Given the description of an element on the screen output the (x, y) to click on. 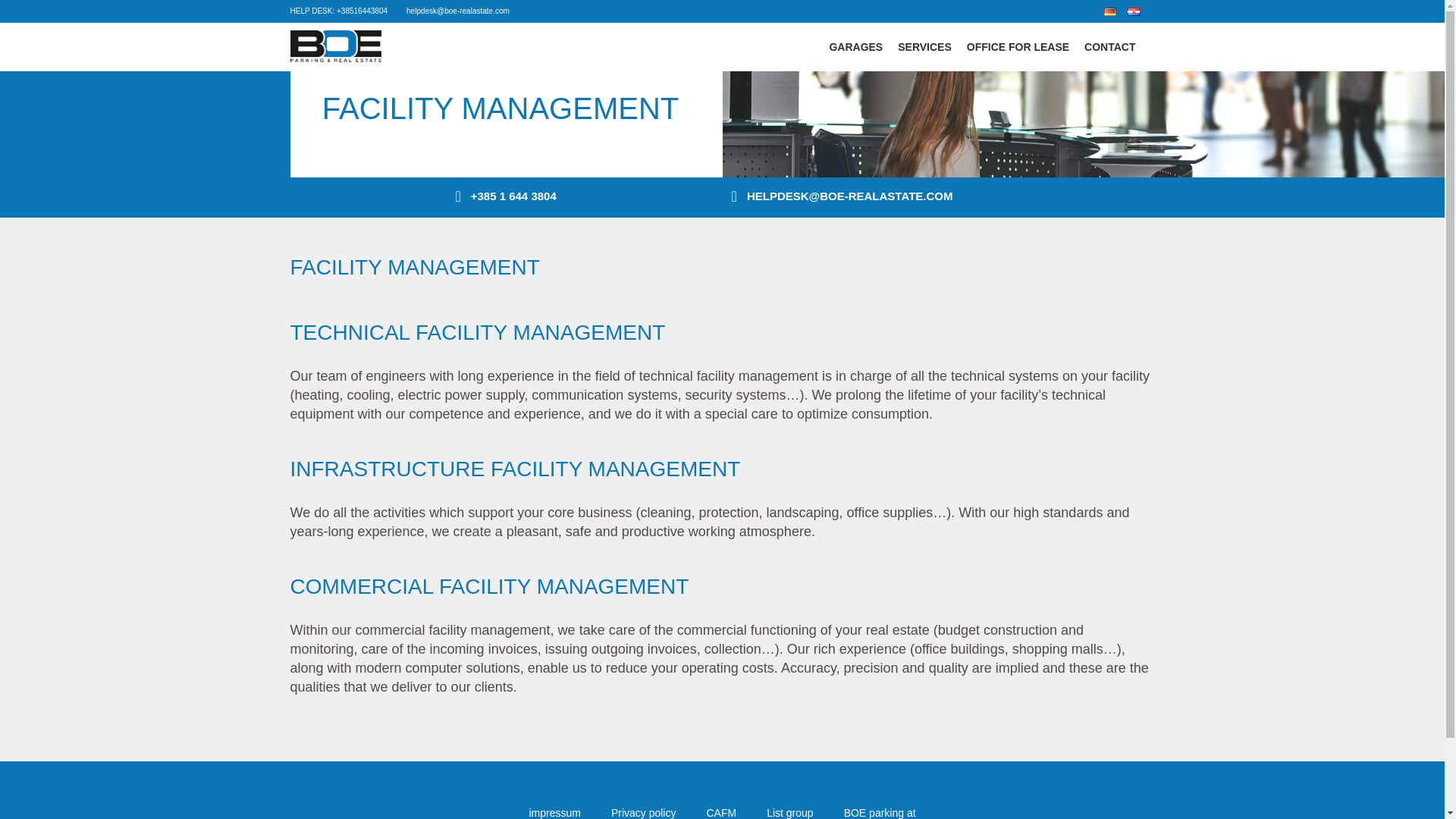
BOE parking at (879, 812)
Privacy policy (644, 812)
List group (789, 812)
CAFM (721, 812)
GARAGES (855, 46)
OFFICE FOR LEASE (1018, 46)
SERVICES (924, 46)
CONTACT (1109, 46)
impressum (553, 812)
